Given the description of an element on the screen output the (x, y) to click on. 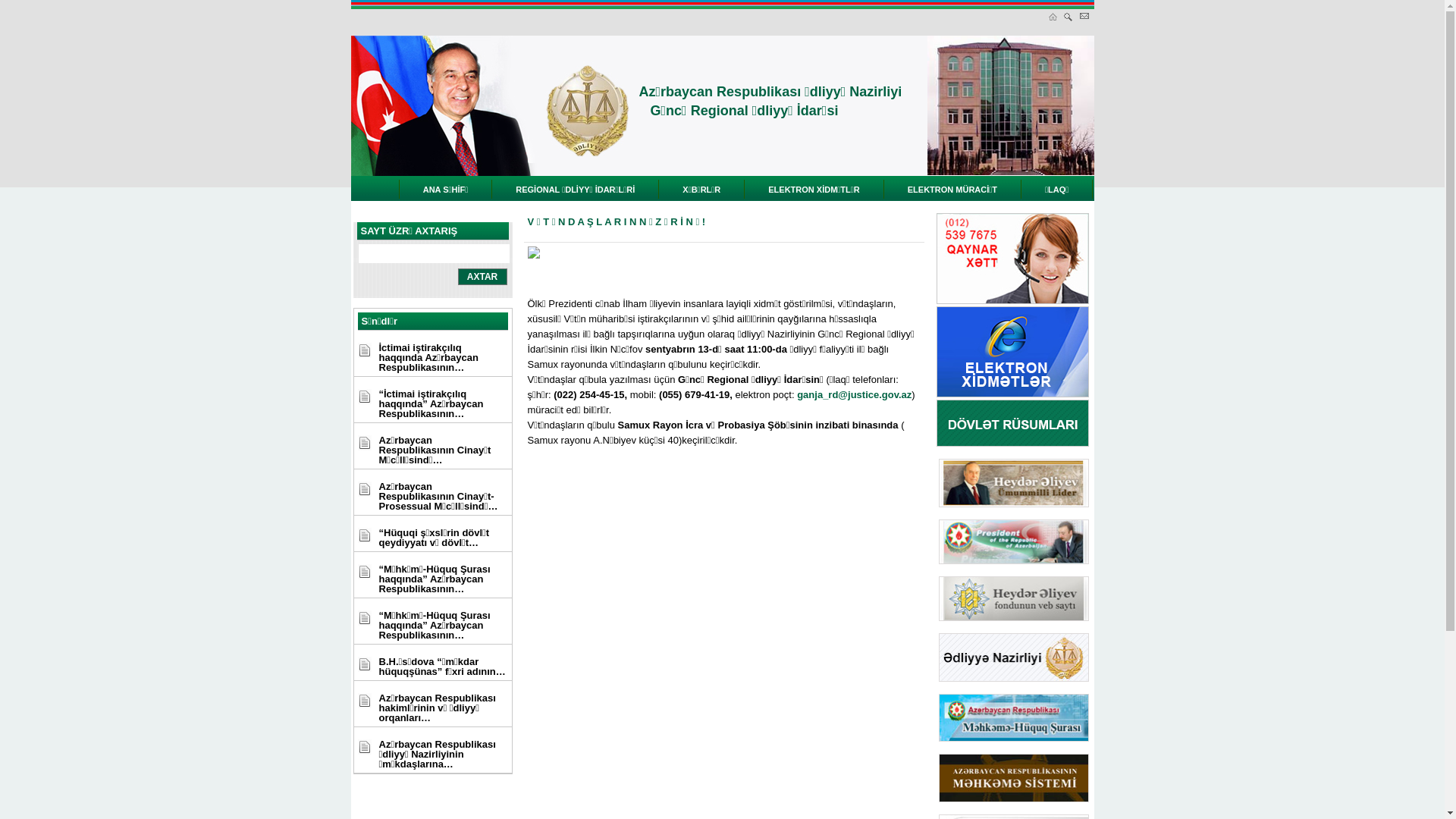
ganja_rd@justice.gov.az Element type: text (854, 394)
AXTAR Element type: text (482, 276)
